Given the description of an element on the screen output the (x, y) to click on. 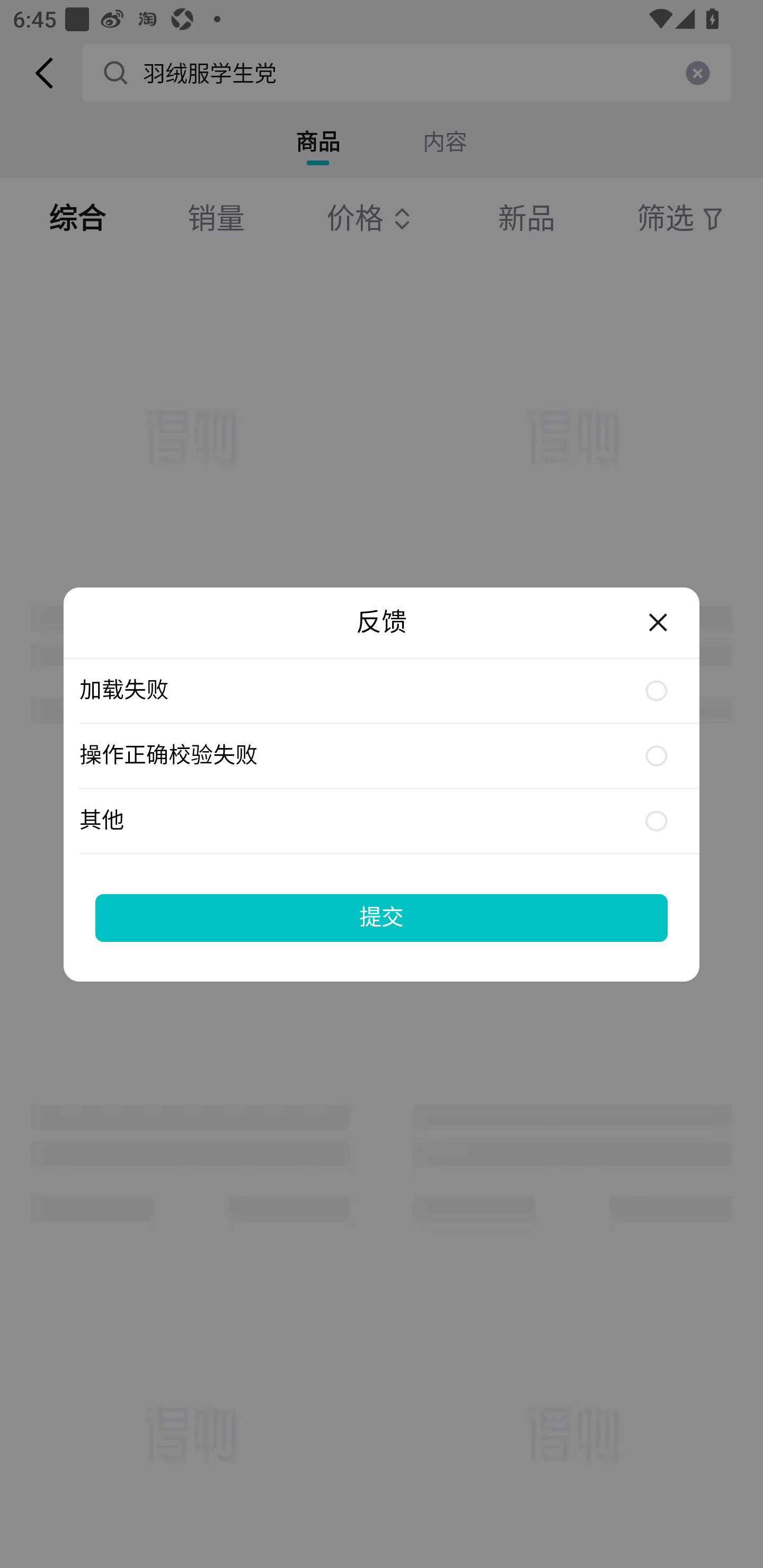
提交 (381, 917)
